Given the description of an element on the screen output the (x, y) to click on. 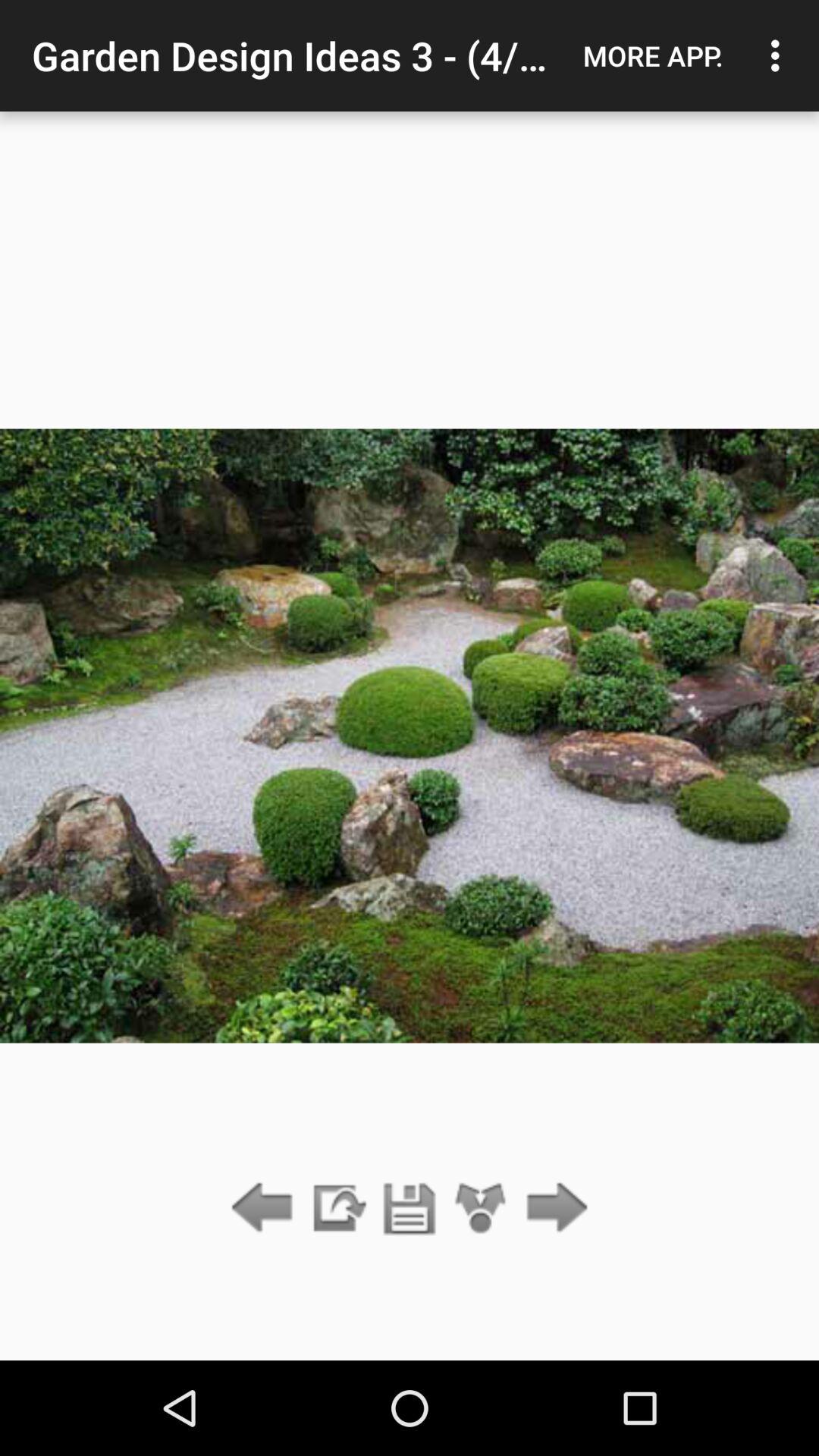
turn on the icon to the right of garden design ideas app (653, 55)
